Given the description of an element on the screen output the (x, y) to click on. 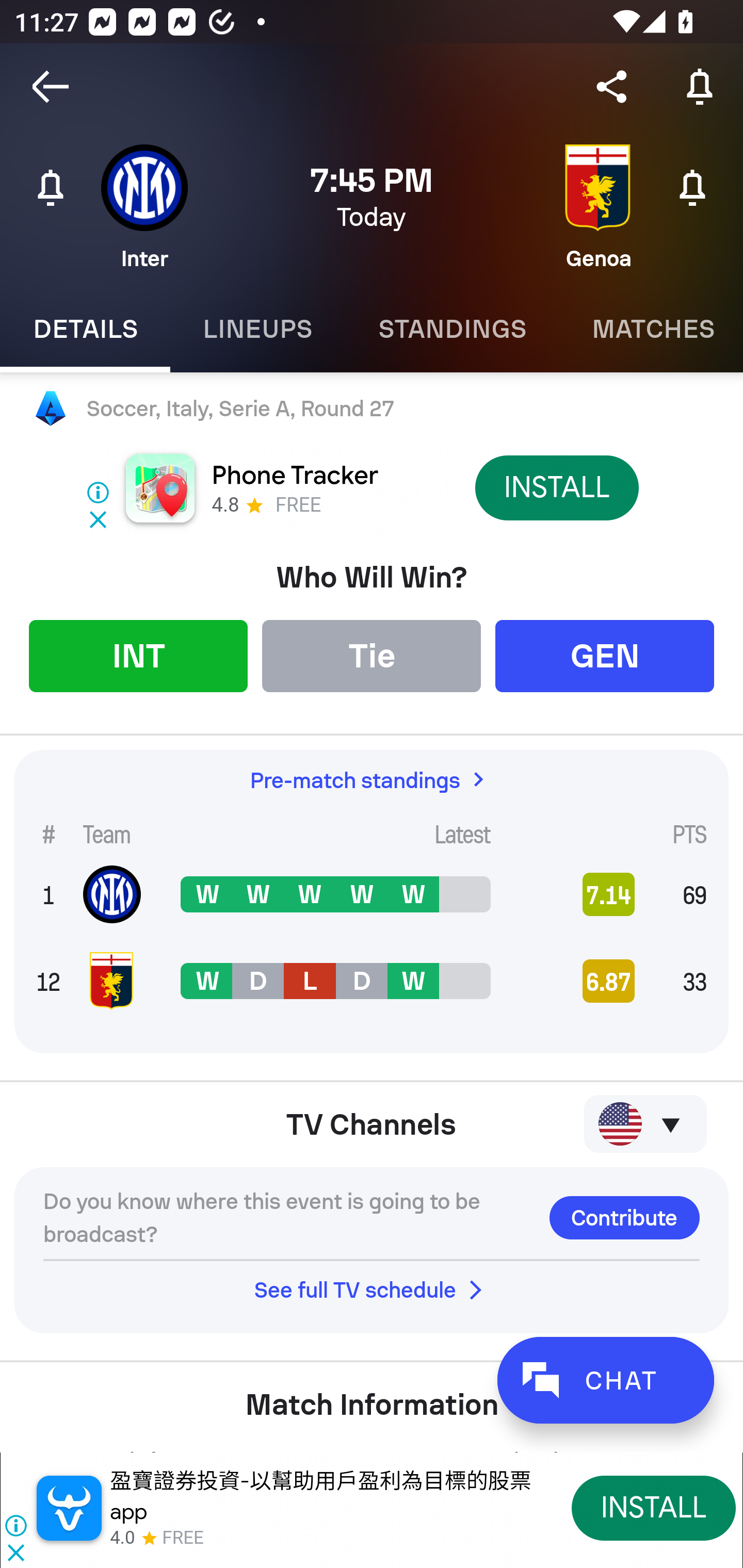
Navigate up (50, 86)
Lineups LINEUPS (257, 329)
Standings STANDINGS (451, 329)
Matches MATCHES (650, 329)
Soccer, Italy, Serie A, Round 27 (371, 409)
INSTALL (556, 487)
Phone Tracker (294, 475)
INT (137, 655)
Tie (371, 655)
GEN (604, 655)
Contribute (624, 1217)
See full TV schedule (371, 1289)
CHAT (605, 1380)
盈寶證券投資-以幫助用戶盈利為目標的股票 app 盈寶證券投資-以幫助用戶盈利為目標的股票 app (320, 1496)
INSTALL (654, 1507)
